Given the description of an element on the screen output the (x, y) to click on. 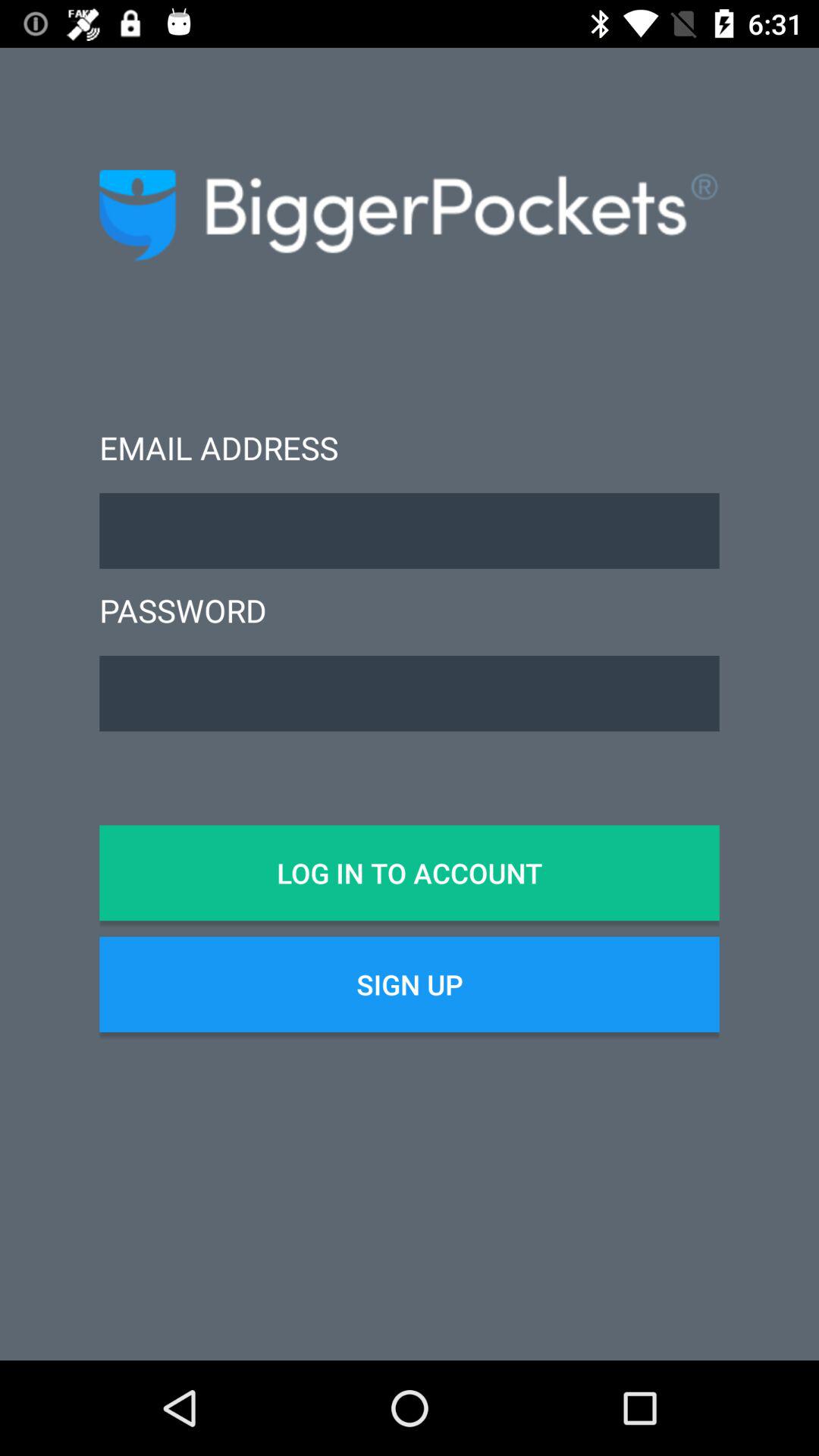
flip until log in to (409, 872)
